Given the description of an element on the screen output the (x, y) to click on. 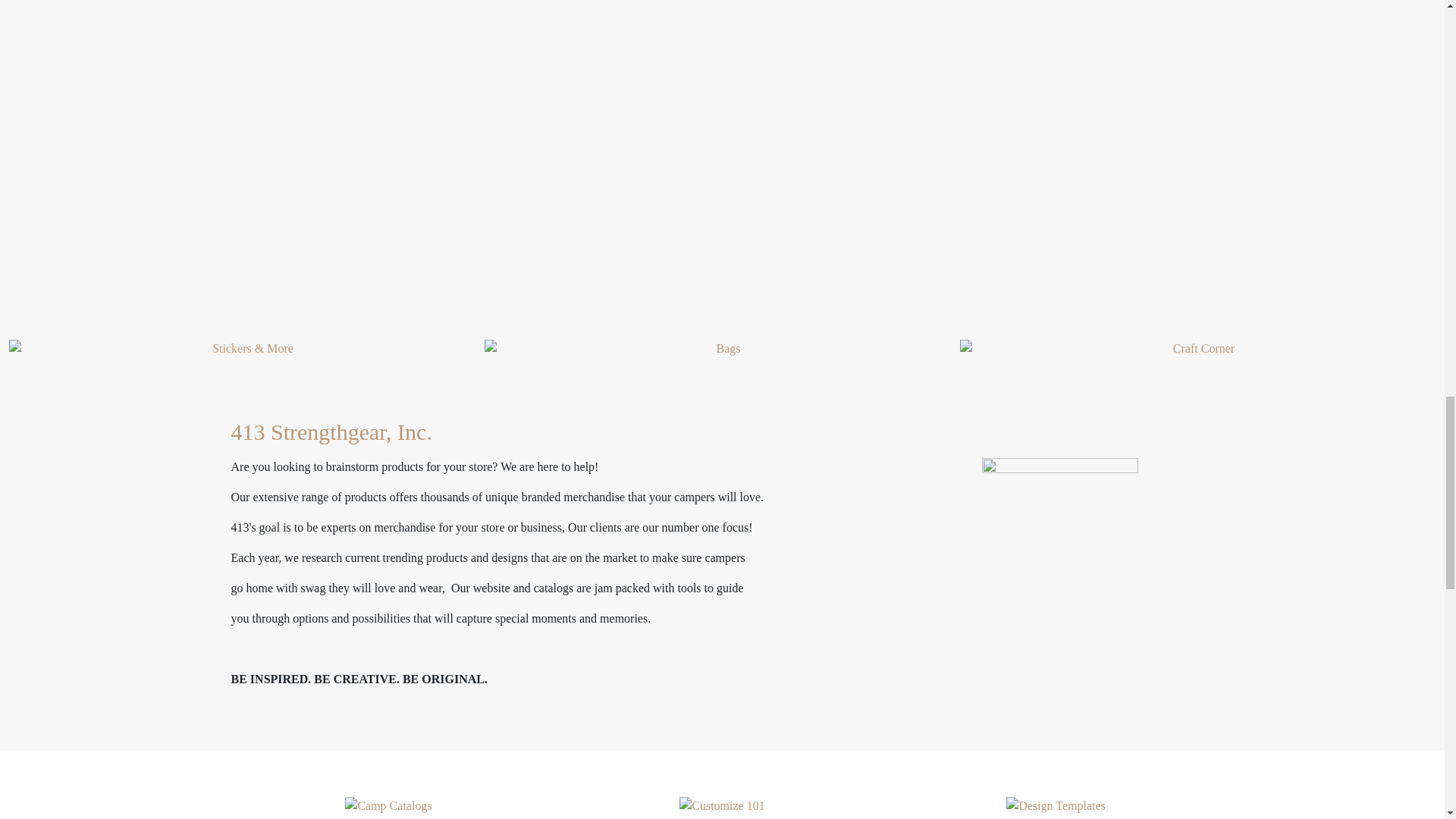
Bags (721, 348)
Craft Corner (1197, 348)
